Given the description of an element on the screen output the (x, y) to click on. 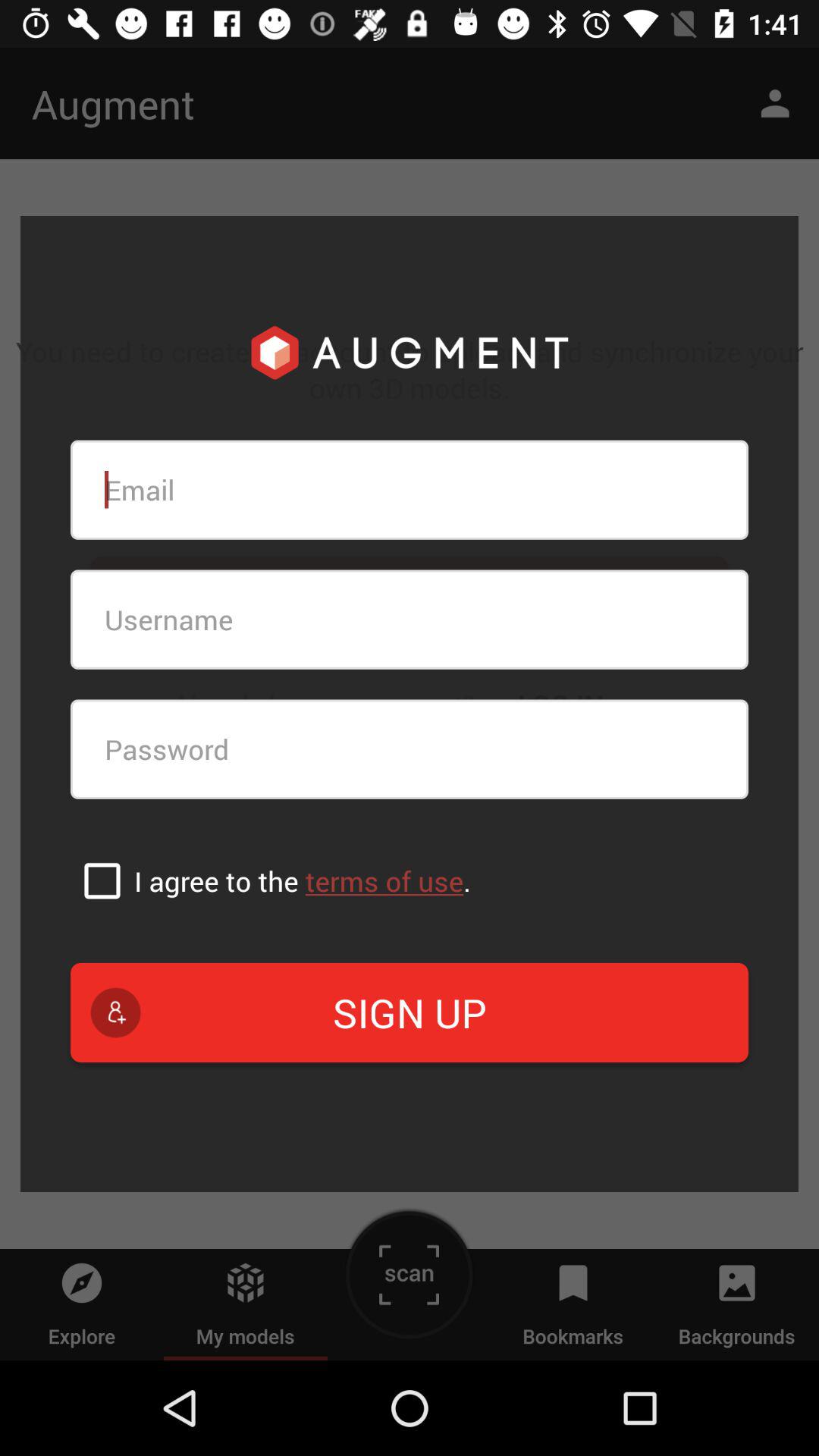
toggle the box in order to accept and continue (102, 880)
